Given the description of an element on the screen output the (x, y) to click on. 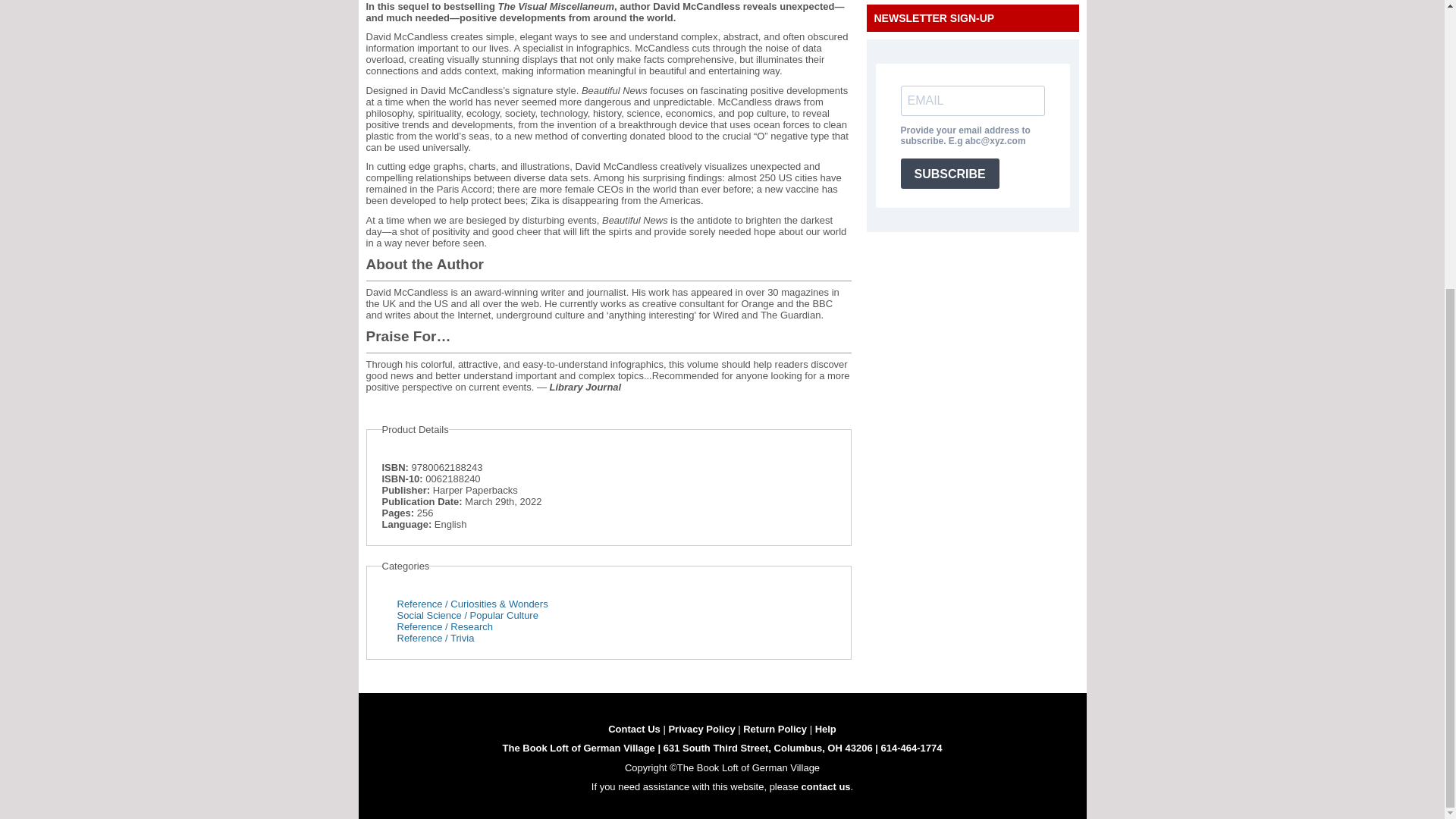
contact us (826, 786)
Return Policy (774, 728)
SUBSCRIBE (949, 173)
Contact Us (634, 728)
Help (825, 728)
Privacy Policy (701, 728)
